Given the description of an element on the screen output the (x, y) to click on. 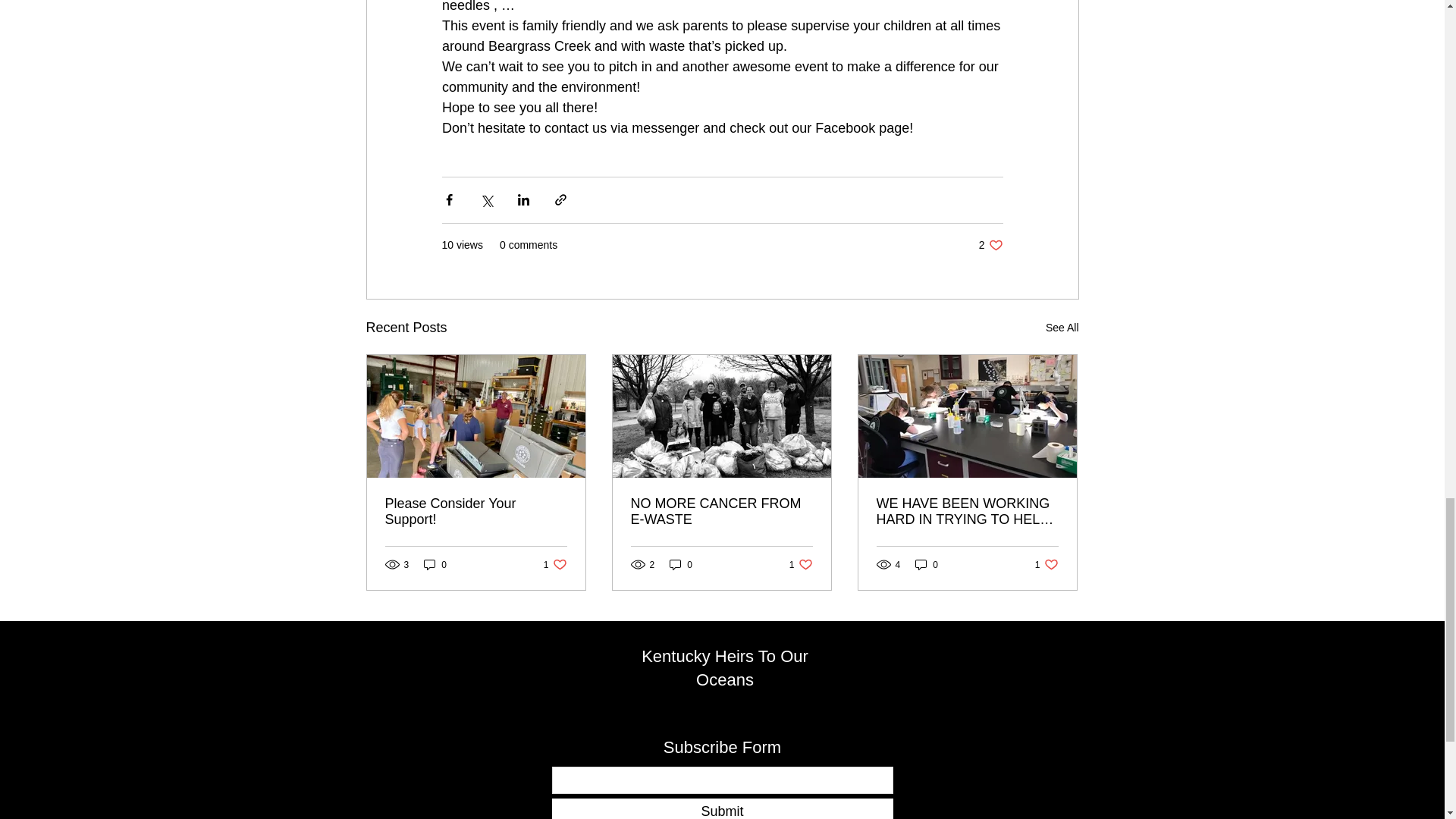
NO MORE CANCER FROM E-WASTE (721, 511)
Submit (722, 808)
0 (990, 245)
See All (435, 564)
0 (1061, 327)
0 (926, 564)
Please Consider Your Support! (800, 564)
